Given the description of an element on the screen output the (x, y) to click on. 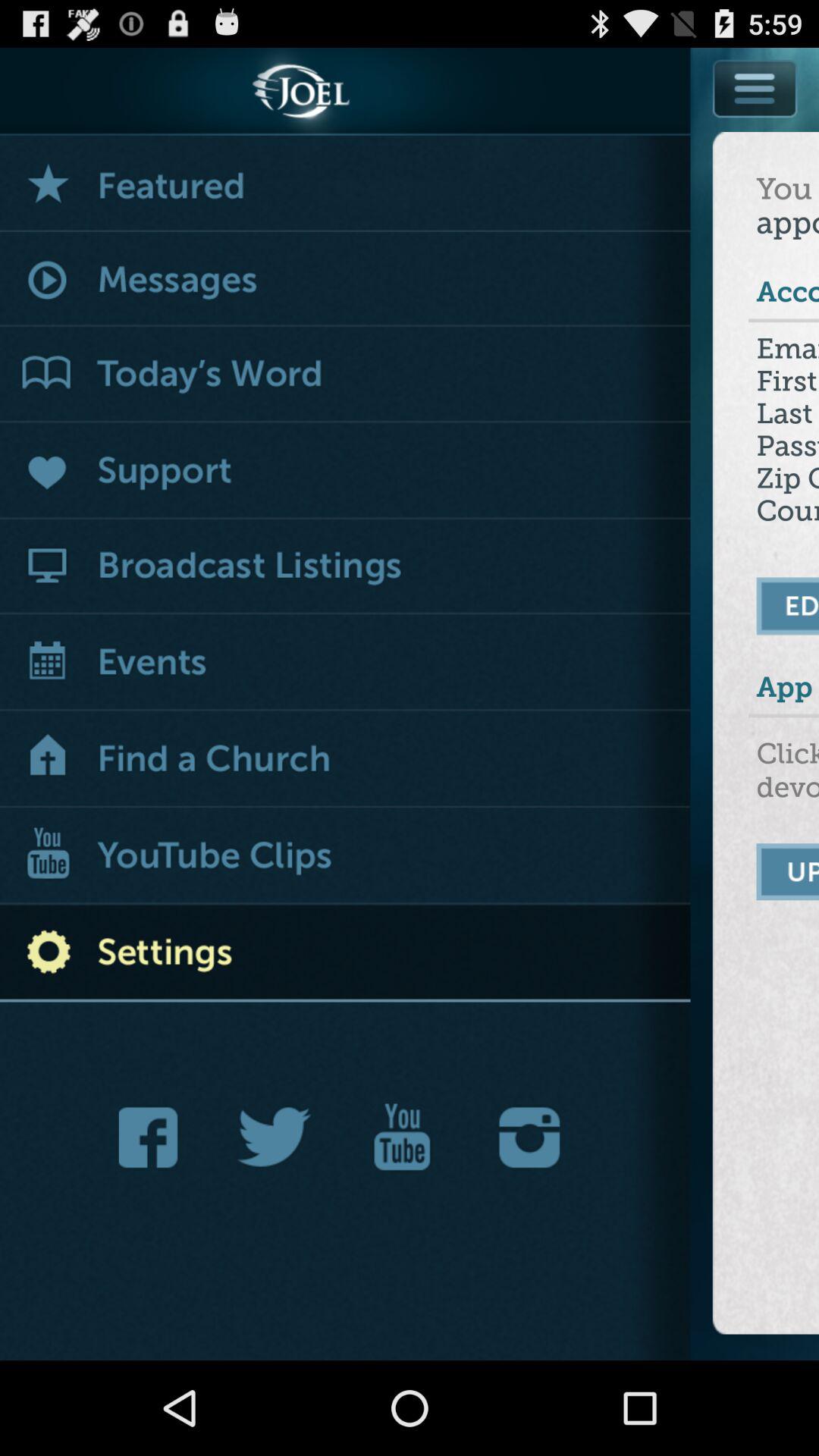
open settings (755, 88)
